Given the description of an element on the screen output the (x, y) to click on. 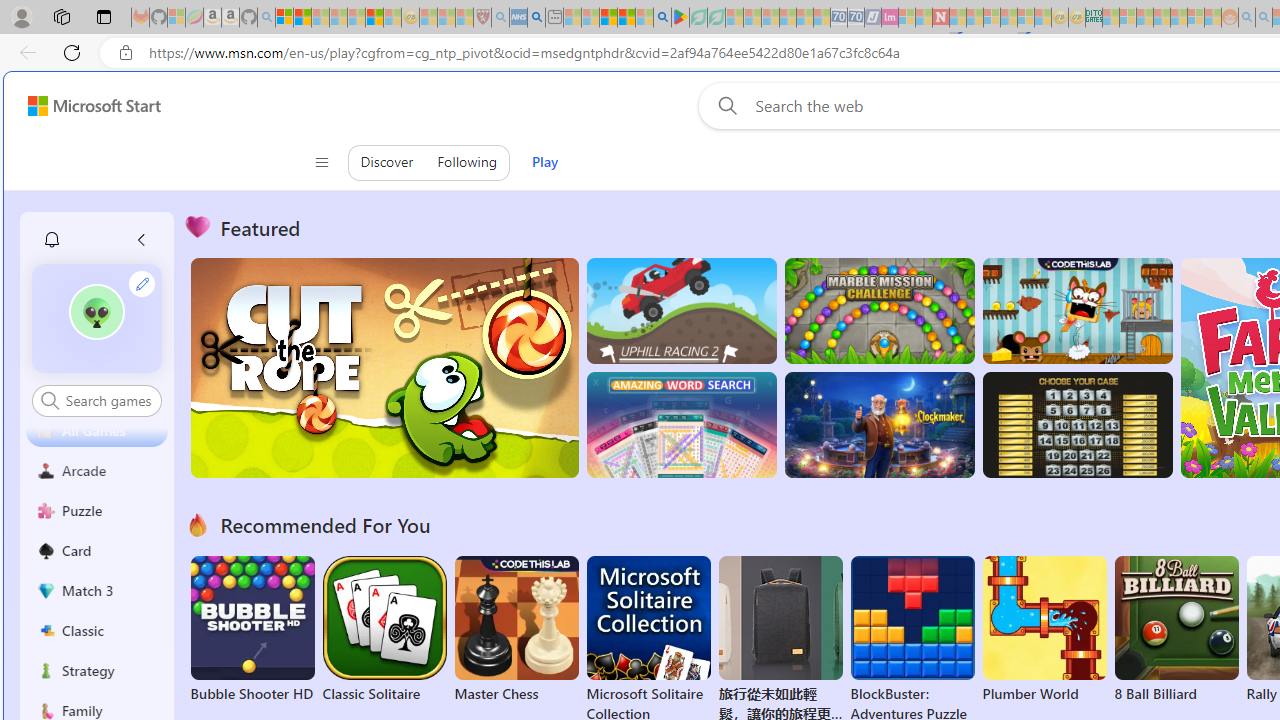
Class: notification-item (51, 239)
Classic Solitaire (384, 629)
Class: profile-edit (142, 283)
Class: search-icon (50, 400)
Class: control icon-only (320, 162)
Up Hill Racing 2 (681, 310)
